Given the description of an element on the screen output the (x, y) to click on. 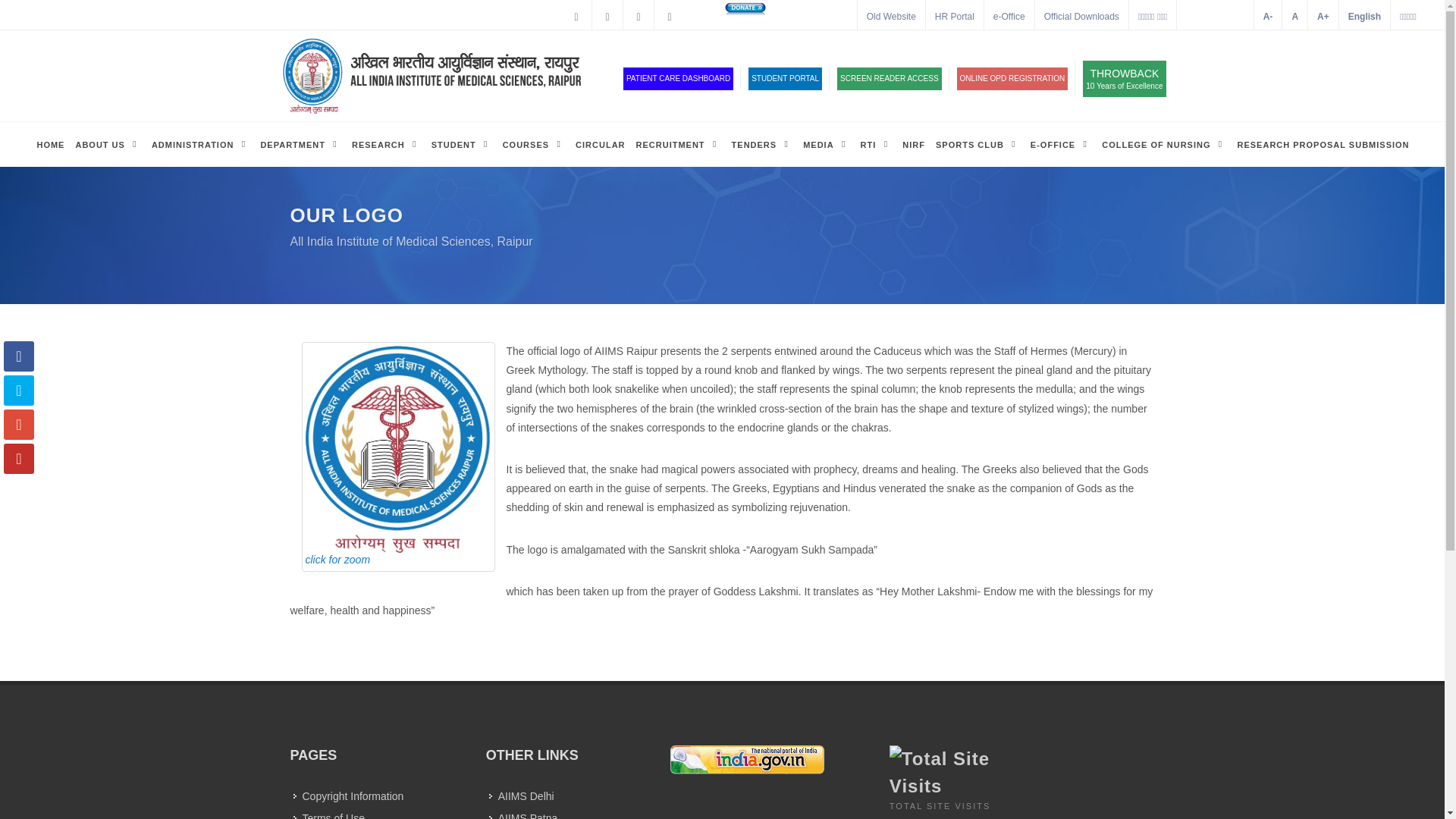
ONLINE OPD REGISTRATION (1012, 78)
Corona Corner (1124, 78)
STUDENT PORTAL (816, 16)
English (785, 78)
PATIENT CARE DASHBOARD (1364, 16)
HR Portal (678, 78)
e-Office (955, 16)
SCREEN READER ACCESS (1008, 16)
Total Site Visits (888, 78)
Official Downloads (949, 772)
ABOUT US (1081, 16)
Old Website (106, 144)
